Given the description of an element on the screen output the (x, y) to click on. 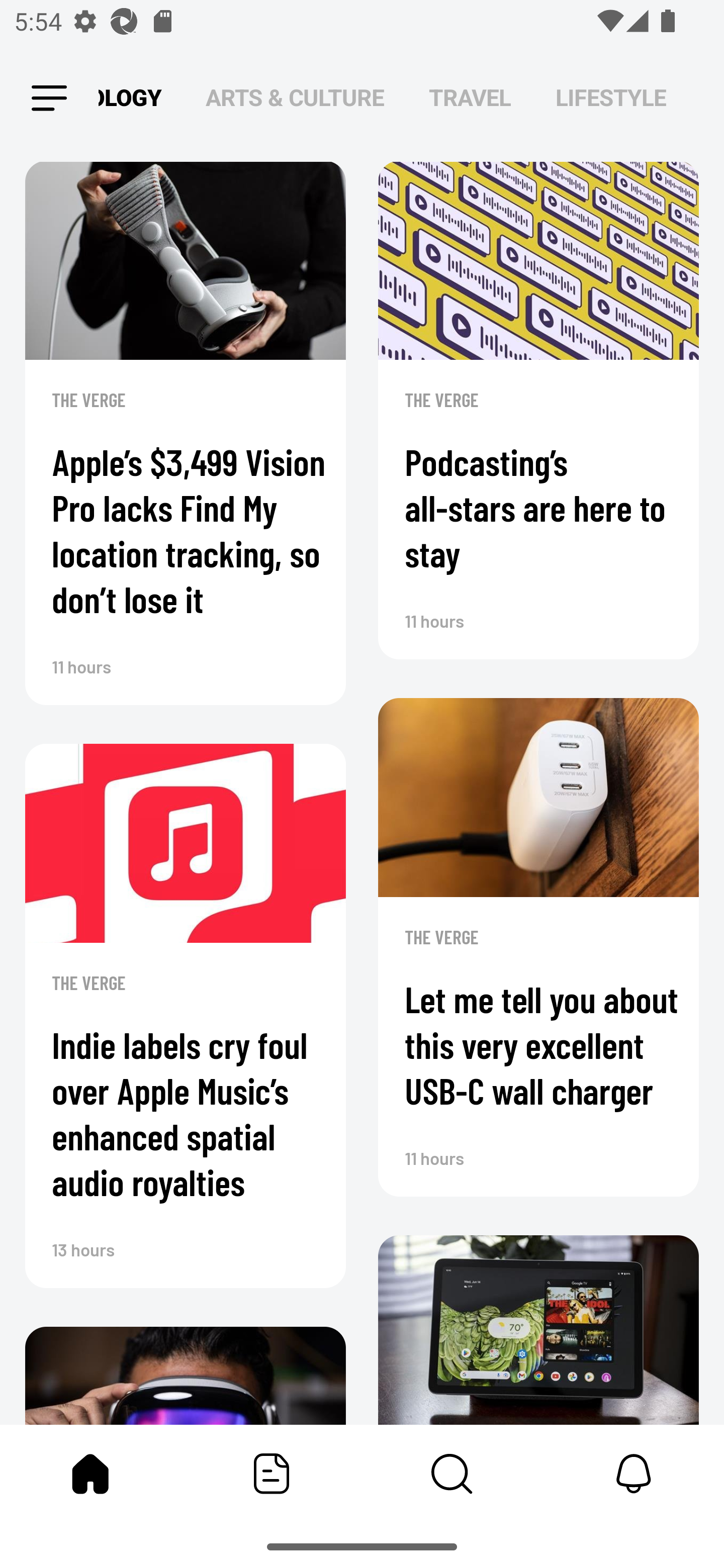
Leading Icon (49, 98)
ARTS & CULTURE (294, 97)
TRAVEL (469, 97)
LIFESTYLE (610, 97)
Featured (271, 1473)
Content Store (452, 1473)
Notifications (633, 1473)
